Given the description of an element on the screen output the (x, y) to click on. 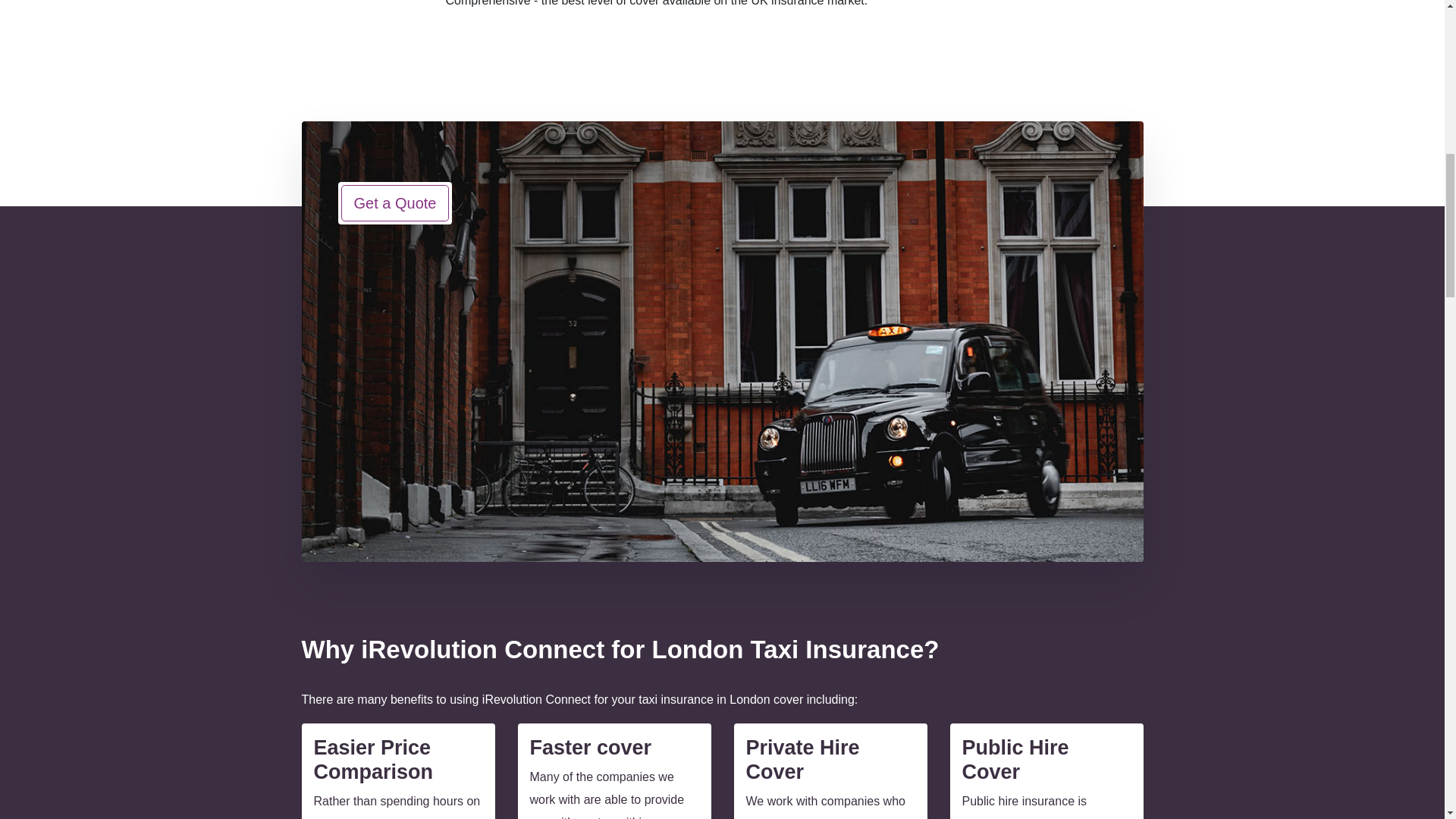
Get a Quote (394, 203)
